Given the description of an element on the screen output the (x, y) to click on. 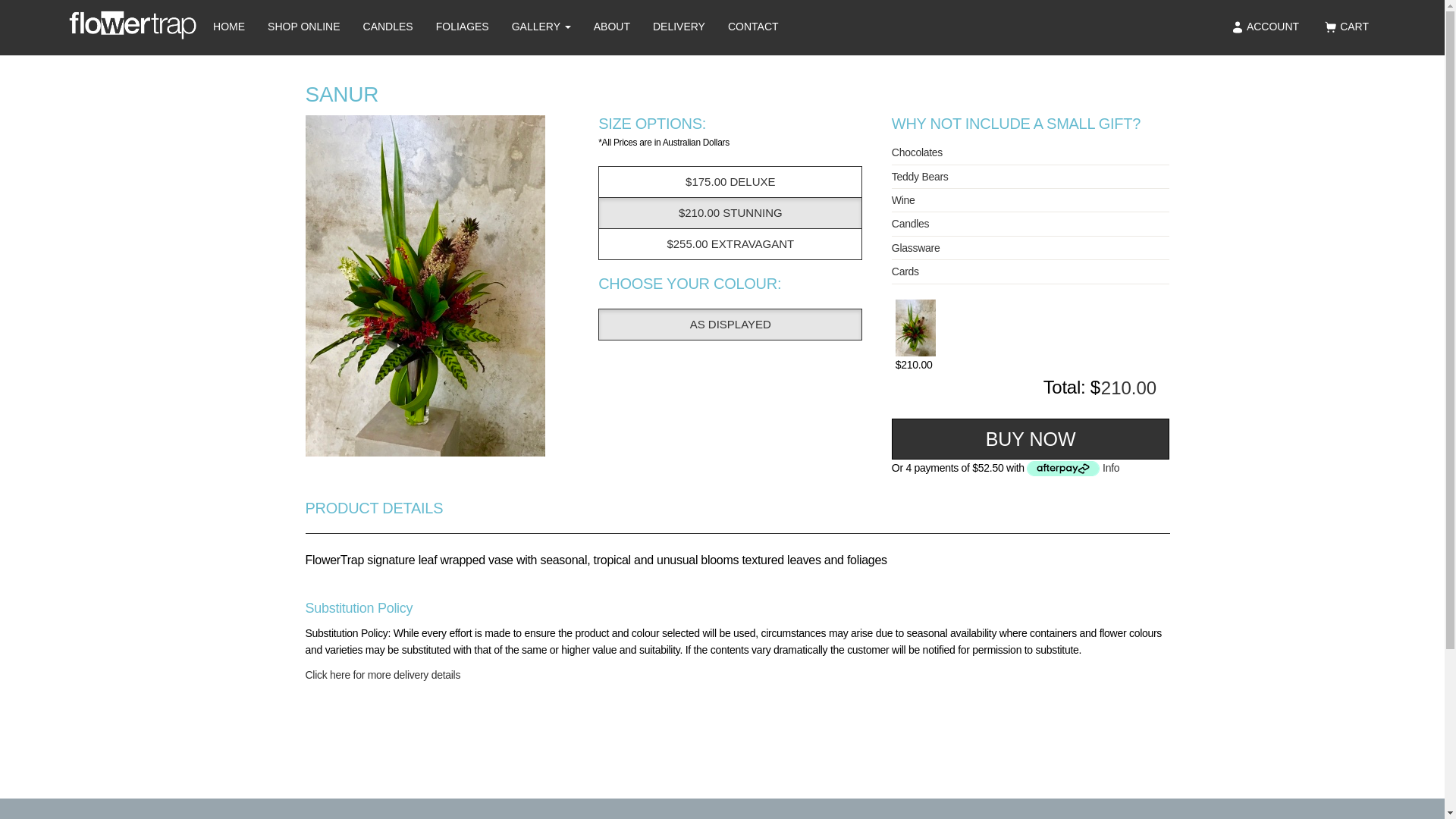
ABOUT Element type: text (611, 26)
SHOP ONLINE Element type: text (303, 26)
DELIVERY Element type: text (678, 26)
Cards Element type: text (1030, 271)
Glassware Element type: text (1030, 247)
CART Element type: text (1345, 27)
$255.00 EXTRAVAGANT Element type: text (730, 244)
Teddy Bears Element type: text (1030, 176)
HOME Element type: text (228, 26)
$175.00 DELUXE Element type: text (730, 181)
Info Element type: text (1110, 467)
ACCOUNT Element type: text (1264, 26)
GALLERY Element type: text (541, 26)
BUY NOW Element type: text (1030, 438)
CANDLES Element type: text (387, 26)
Candles Element type: text (1030, 223)
Chocolates Element type: text (1030, 152)
Wine Element type: text (1030, 199)
$210.00 STUNNING Element type: text (730, 213)
CONTACT Element type: text (753, 26)
Sanur Element type: hover (443, 285)
FOLIAGES Element type: text (462, 26)
Click here for more delivery details Element type: text (382, 674)
